Given the description of an element on the screen output the (x, y) to click on. 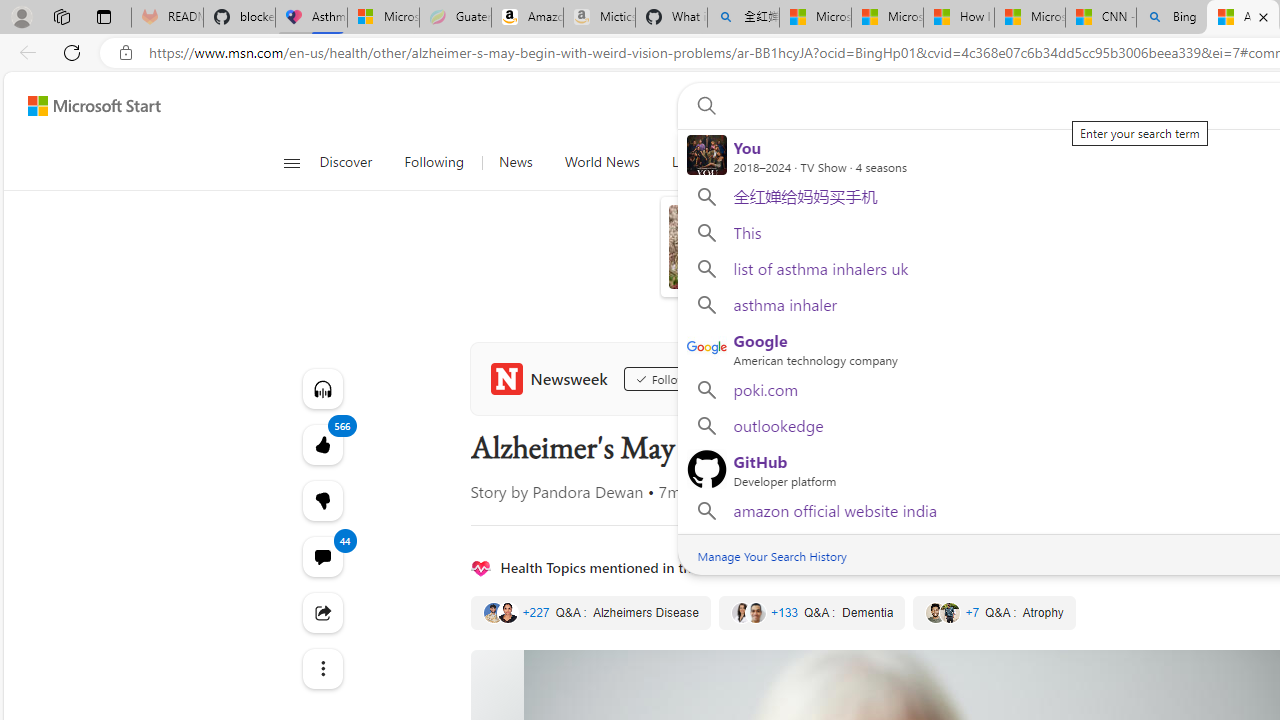
Open navigation menu (291, 162)
Crime (934, 162)
Dementia (812, 613)
Alzheimers Disease (589, 613)
How To Borrow From Your Home Without Touching Your Mortgage (962, 234)
Science (758, 162)
Bing (1171, 17)
Listen to this article (322, 388)
Web search (702, 105)
